Given the description of an element on the screen output the (x, y) to click on. 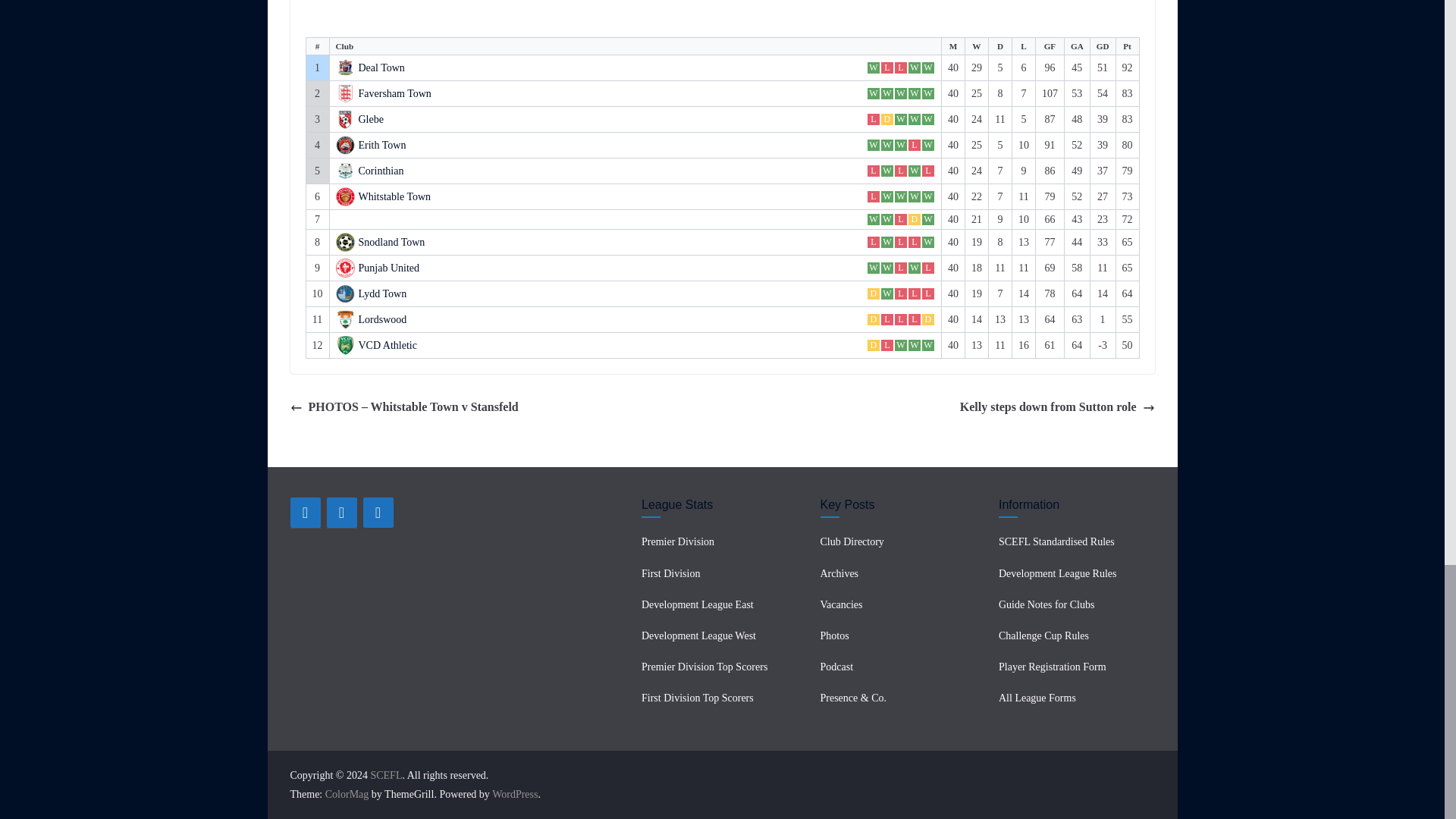
SCEFL (385, 775)
WordPress (514, 794)
Twitter (341, 512)
Instagram (377, 512)
Facebook (304, 512)
Deal Town (381, 68)
ColorMag (346, 794)
